Given the description of an element on the screen output the (x, y) to click on. 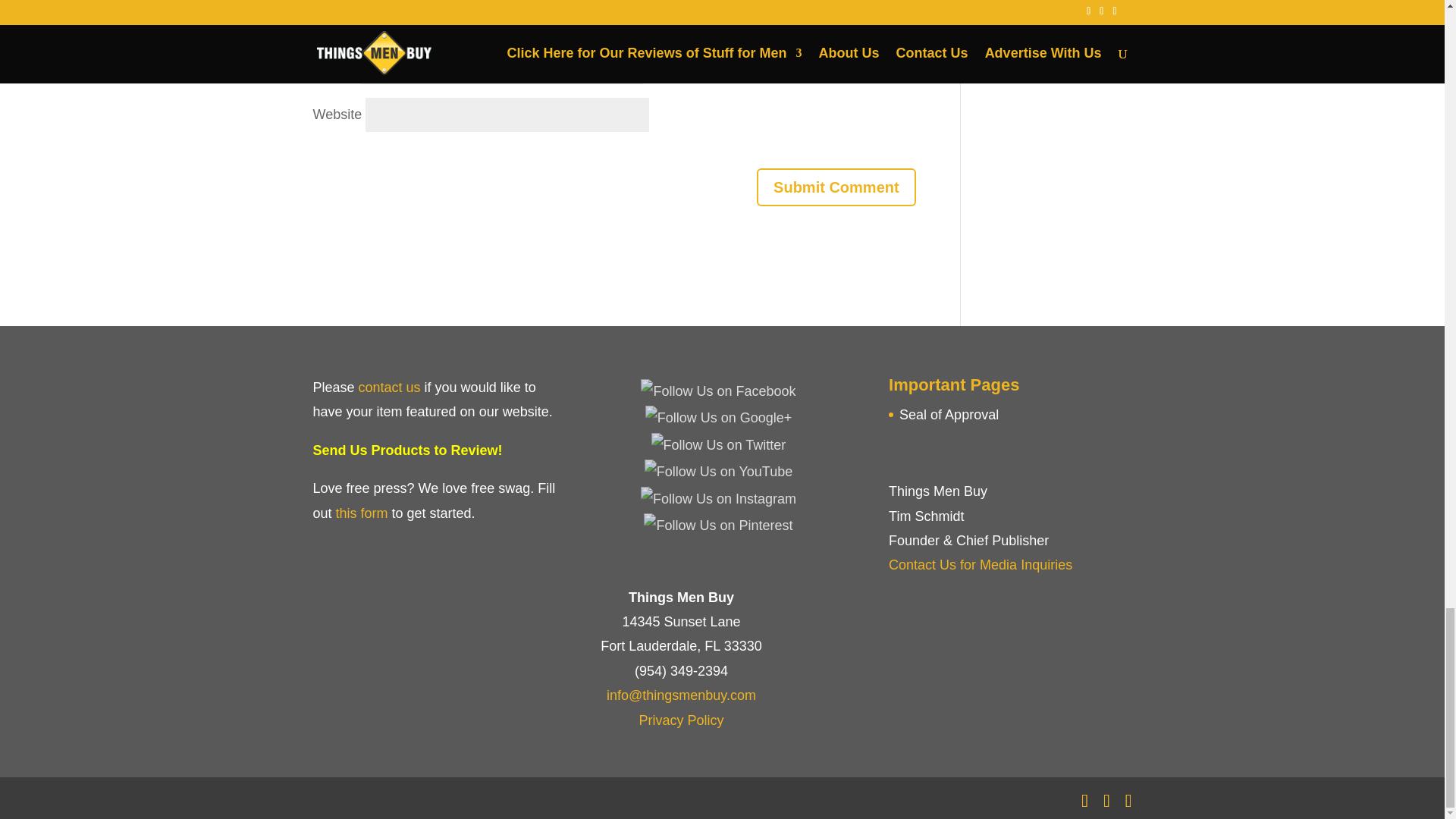
Follow Us on Twitter (718, 445)
Follow Us on Pinterest (717, 525)
Follow Us on Facebook (717, 391)
Follow Us on Instagram (718, 498)
Submit Comment (836, 187)
Follow Us on YouTube (718, 471)
Submit Comment (836, 187)
